Given the description of an element on the screen output the (x, y) to click on. 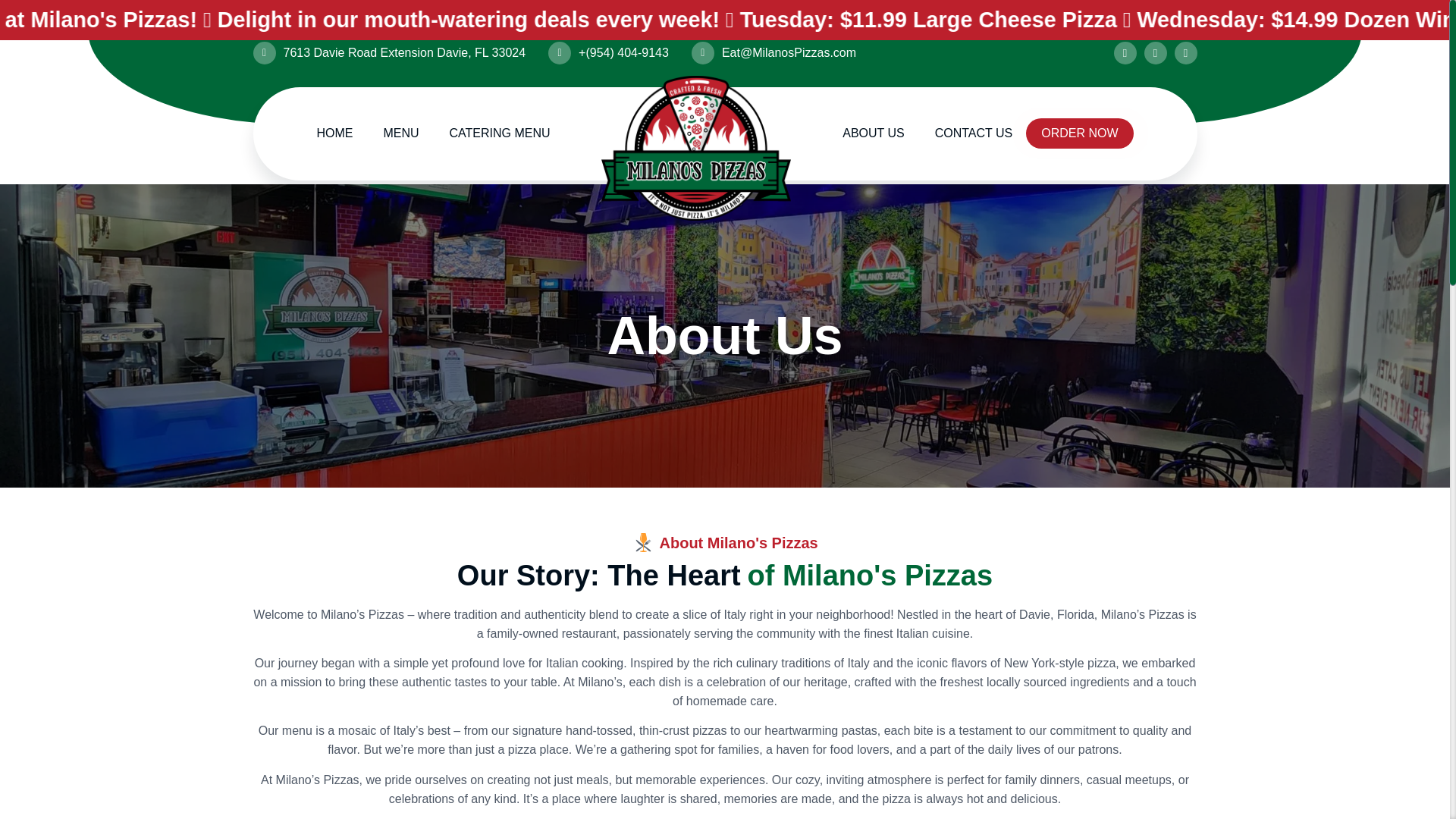
MENU (400, 133)
CONTACT US (973, 132)
CATERING MENU (499, 133)
ABOUT US (873, 132)
HOME (333, 133)
ORDER NOW (1079, 132)
